Given the description of an element on the screen output the (x, y) to click on. 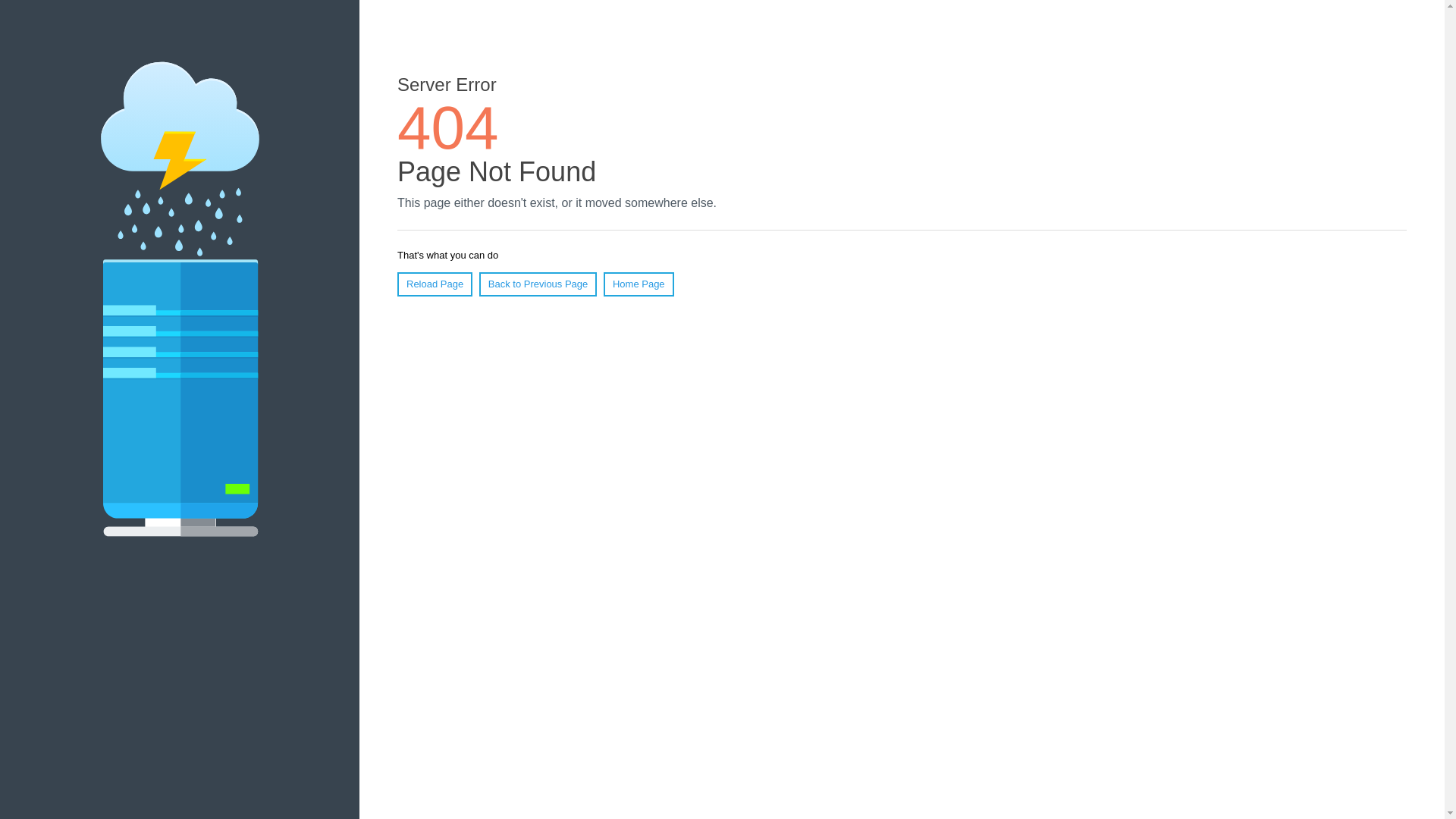
Back to Previous Page Element type: text (538, 284)
Reload Page Element type: text (434, 284)
Home Page Element type: text (638, 284)
